Given the description of an element on the screen output the (x, y) to click on. 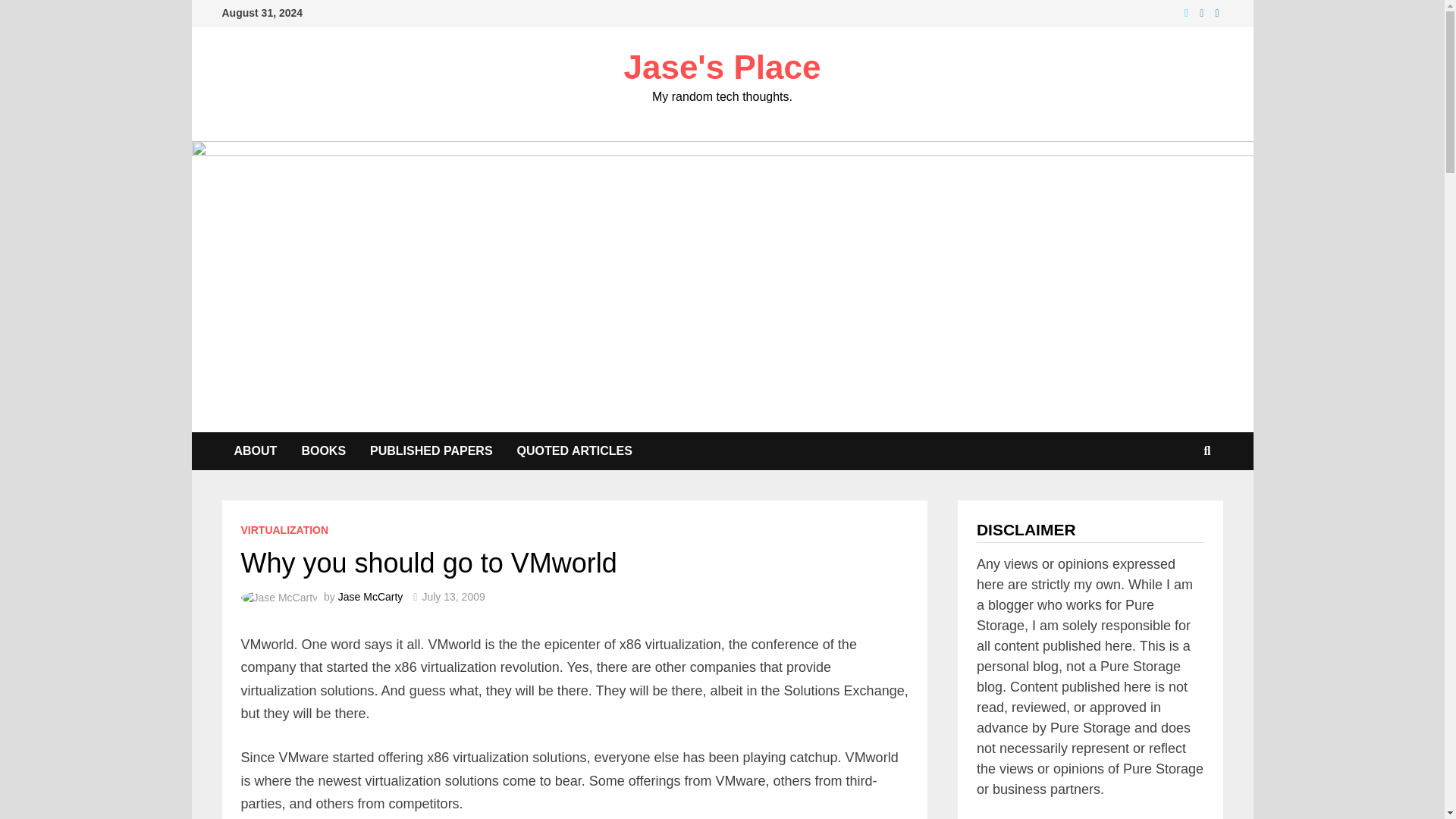
PUBLISHED PAPERS (431, 451)
ABOUT (254, 451)
Twitter (1187, 11)
Jase McCarty (370, 596)
QUOTED ARTICLES (575, 451)
Instagram (1203, 11)
Jase's Place (722, 66)
VIRTUALIZATION (285, 530)
July 13, 2009 (453, 596)
BOOKS (323, 451)
